Given the description of an element on the screen output the (x, y) to click on. 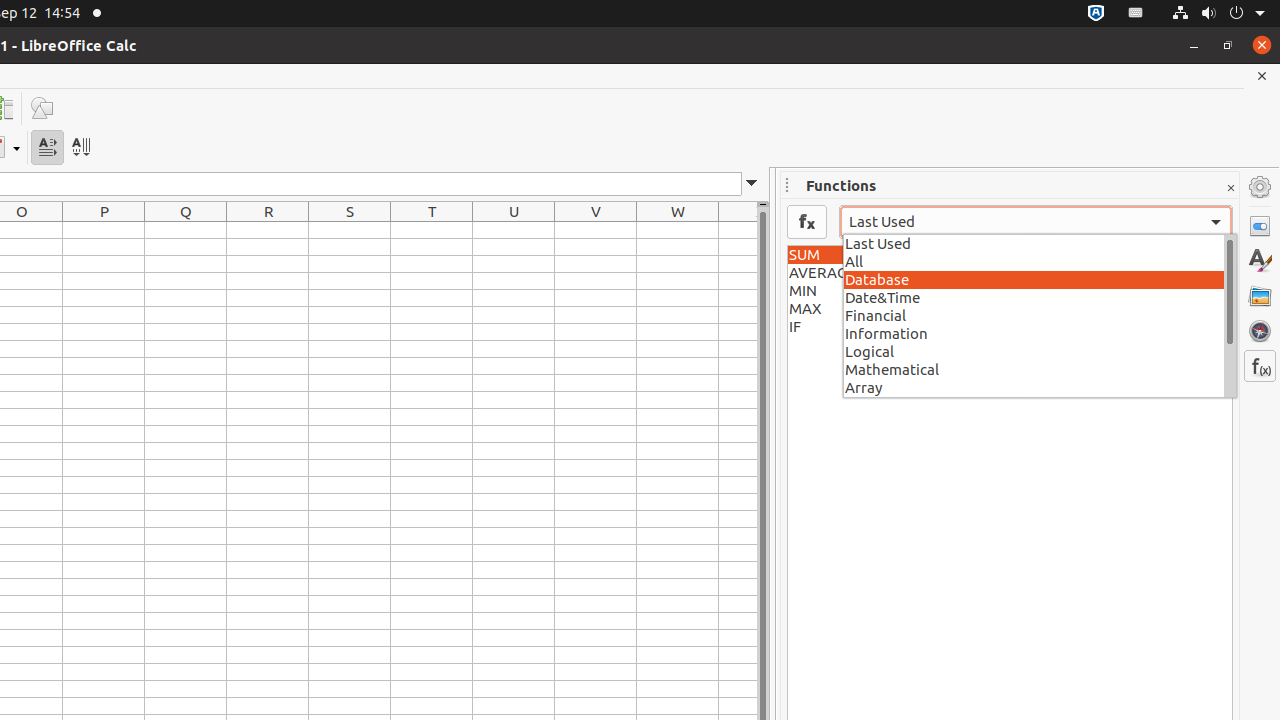
:1.72/StatusNotifierItem Element type: menu (1096, 13)
AVERAGE Element type: list-item (1010, 273)
Q1 Element type: table-cell (186, 230)
MAX Element type: list-item (1010, 309)
Financial Element type: list-item (1040, 315)
